Given the description of an element on the screen output the (x, y) to click on. 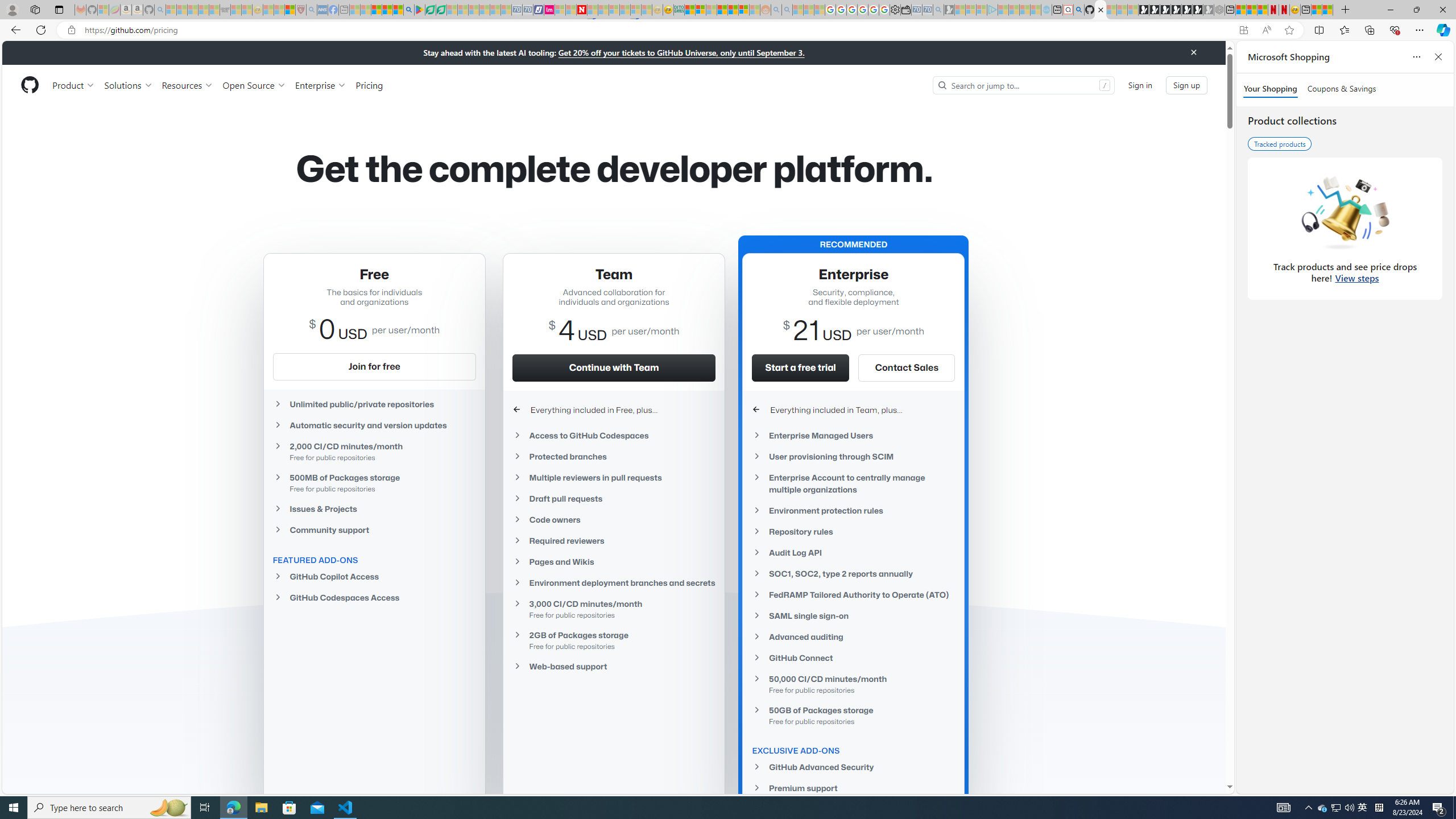
Sign up (1186, 84)
Draft pull requests (614, 498)
Enterprise (319, 84)
50,000 CI/CD minutes/monthFree for public repositories (853, 683)
Everything included in Free, plus... (614, 409)
500MB of Packages storageFree for public repositories (374, 482)
Bluey: Let's Play! - Apps on Google Play (419, 9)
Microsoft Word - consumer-privacy address update 2.2021 (440, 9)
